Given the description of an element on the screen output the (x, y) to click on. 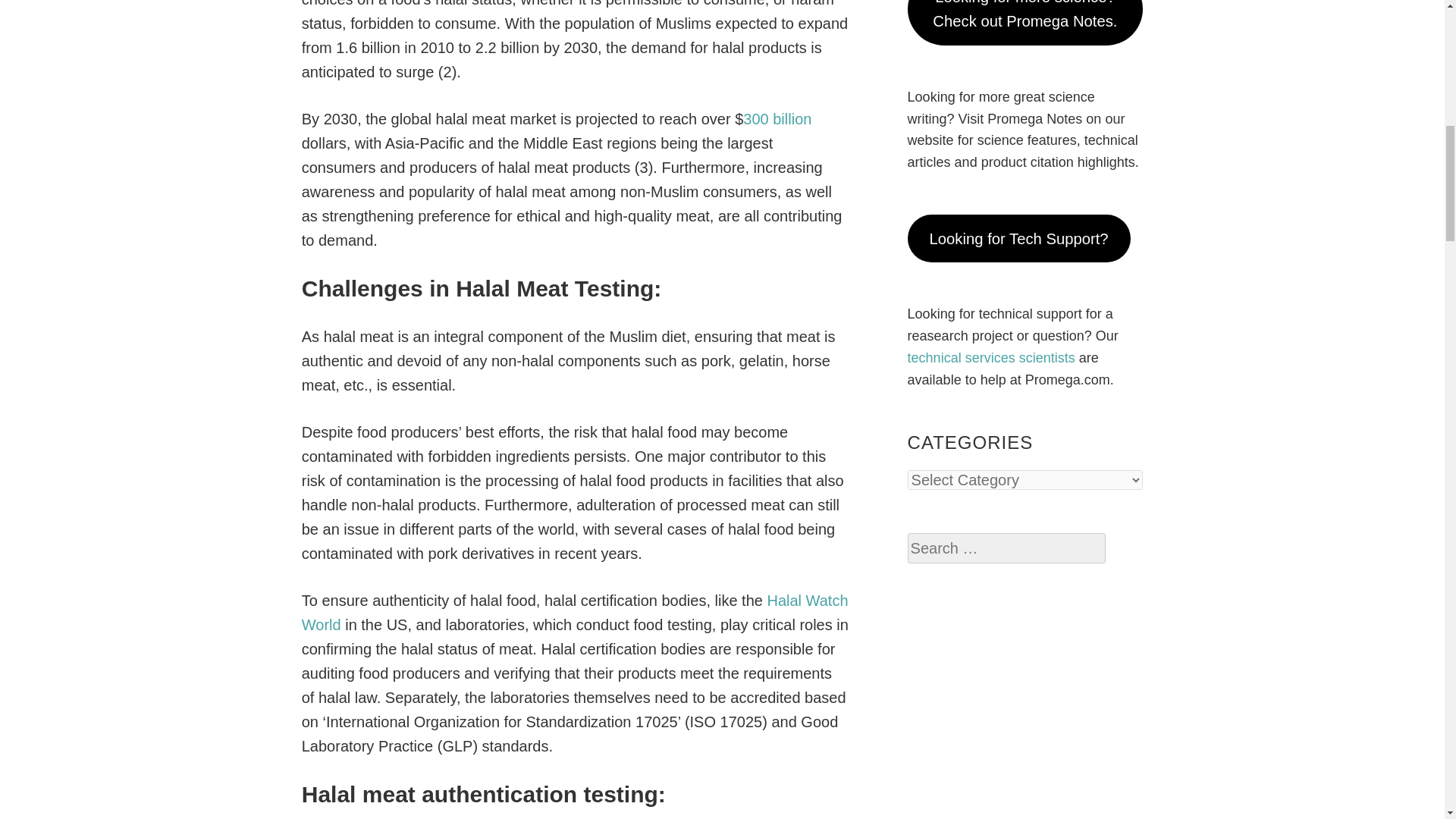
300 billion (776, 118)
Halal Watch World (574, 612)
